Given the description of an element on the screen output the (x, y) to click on. 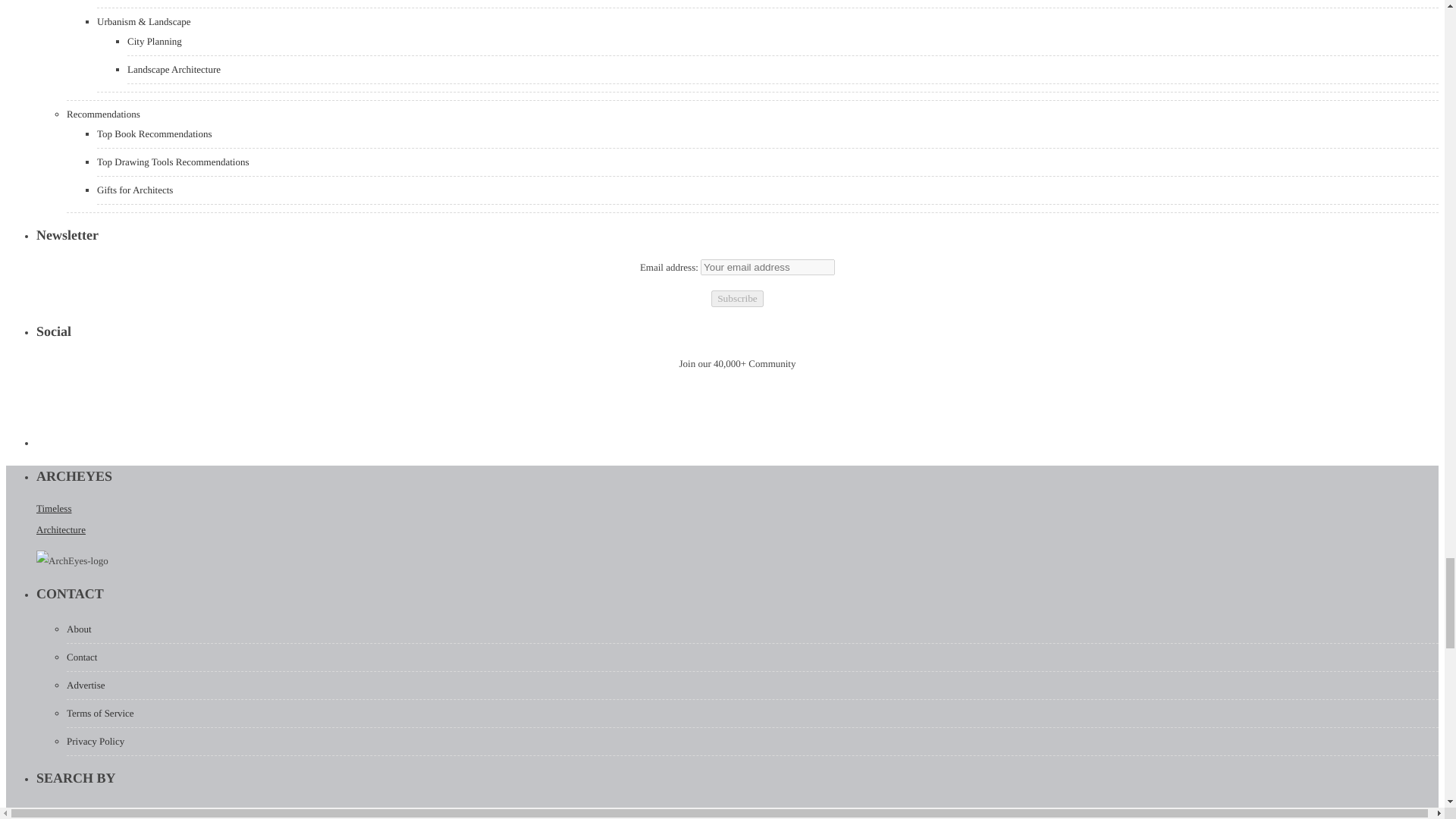
Subscribe (736, 298)
